Given the description of an element on the screen output the (x, y) to click on. 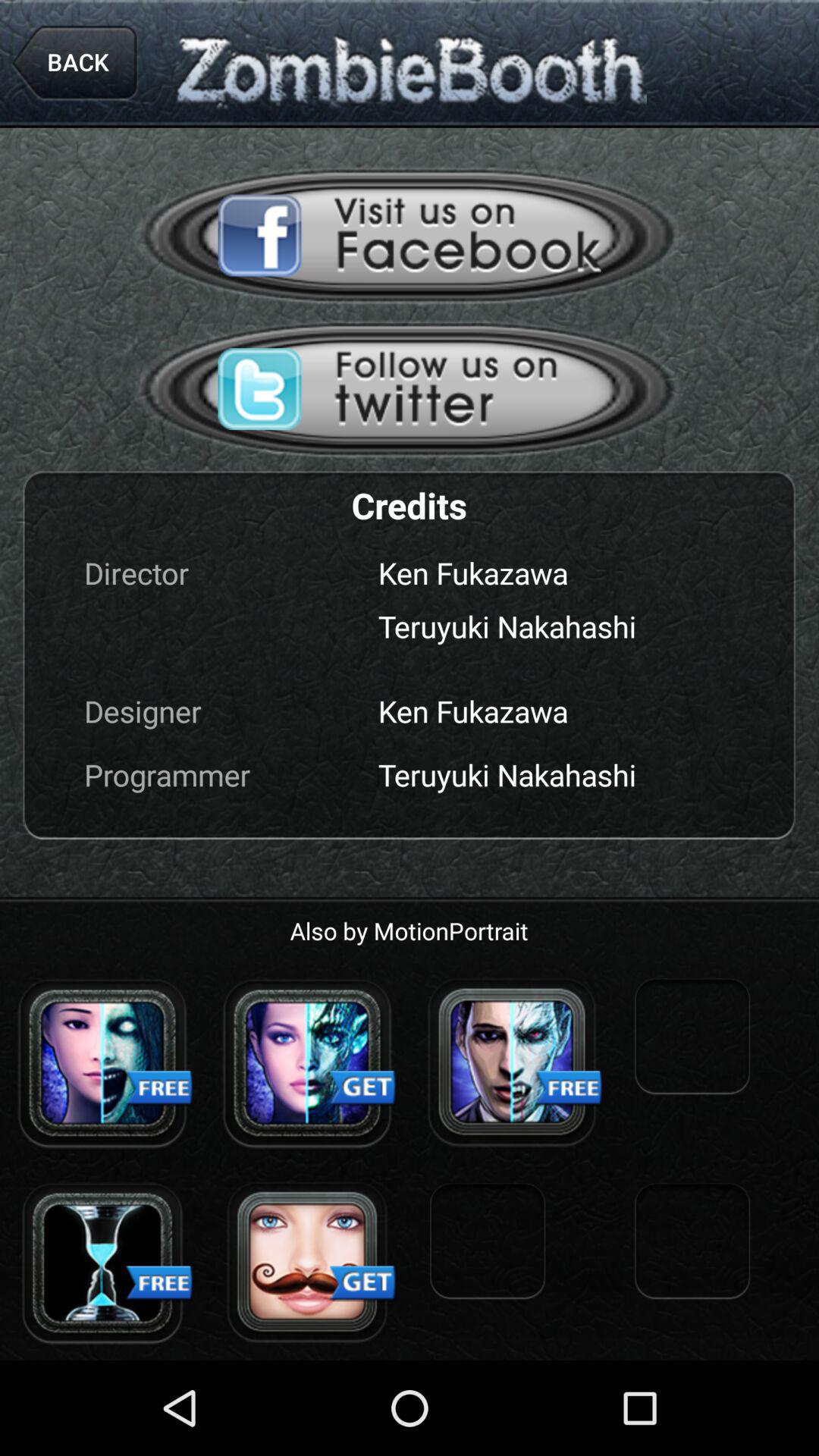
follow zombiebooth on twitter (409, 388)
